Given the description of an element on the screen output the (x, y) to click on. 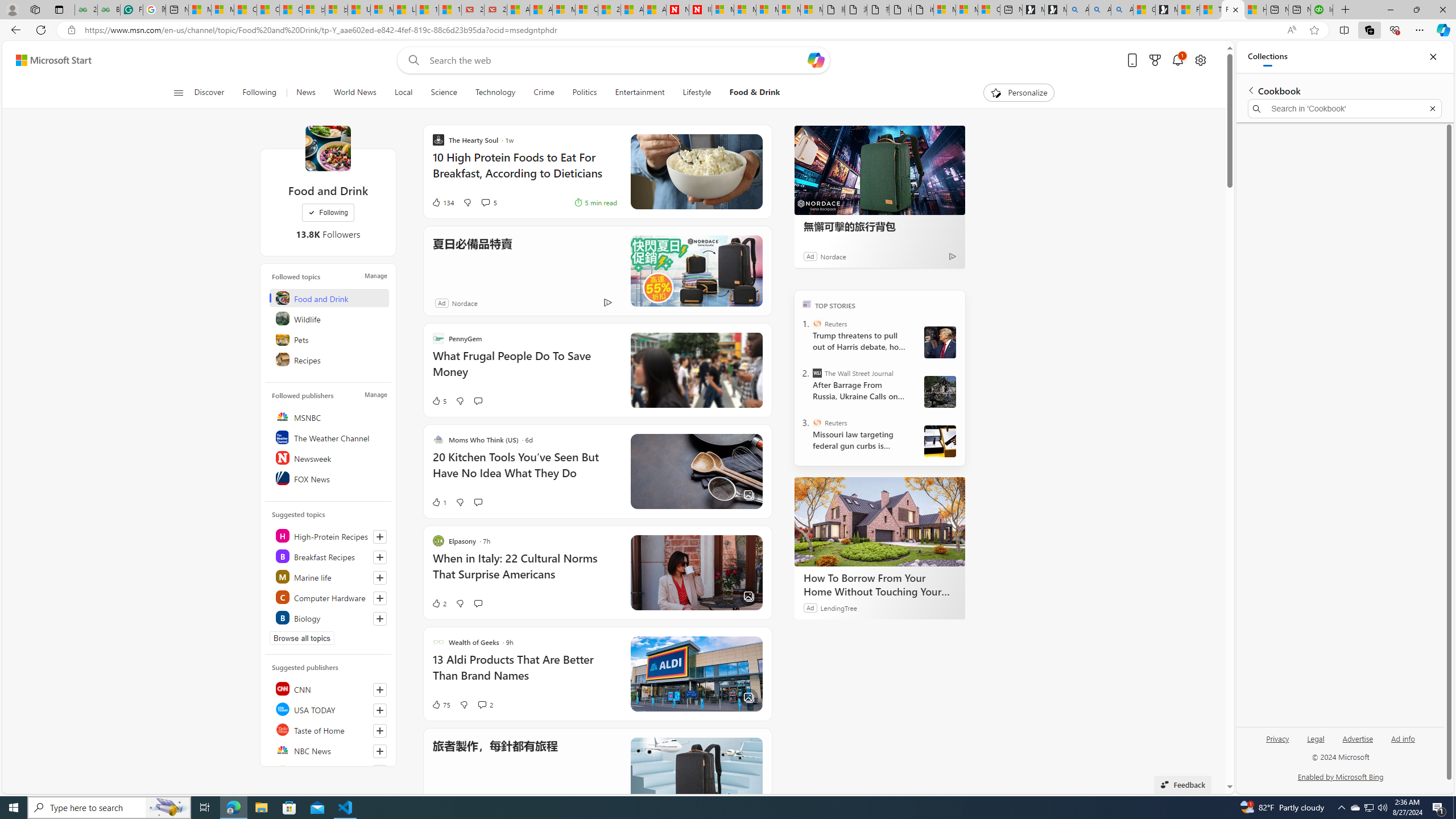
Ad info (1402, 738)
How to Use a TV as a Computer Monitor (1255, 9)
Notifications (1177, 60)
Open settings (1199, 60)
View comments 2 Comment (481, 704)
News (305, 92)
USA TODAY - MSN (359, 9)
Browse all topics (301, 638)
Following (258, 92)
